Given the description of an element on the screen output the (x, y) to click on. 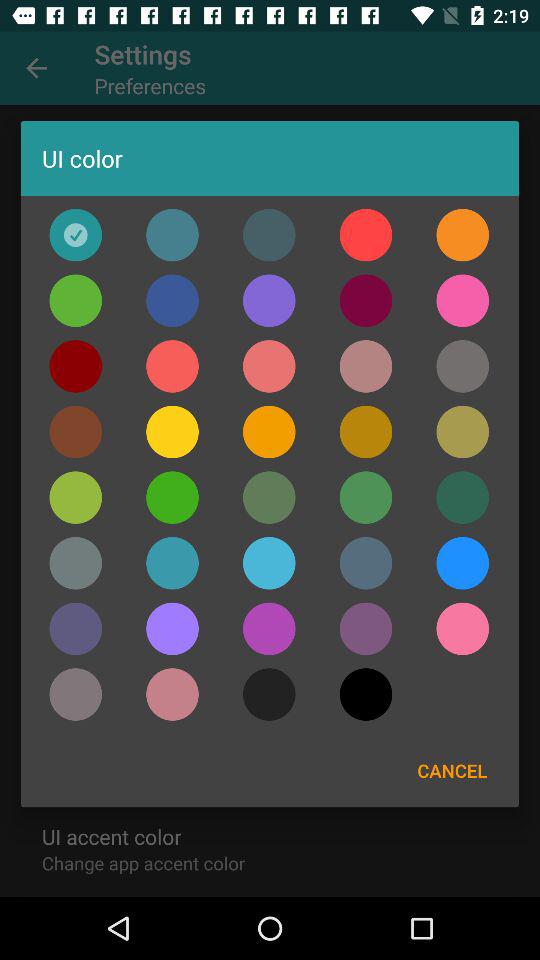
click on the green ball (75, 497)
